Given the description of an element on the screen output the (x, y) to click on. 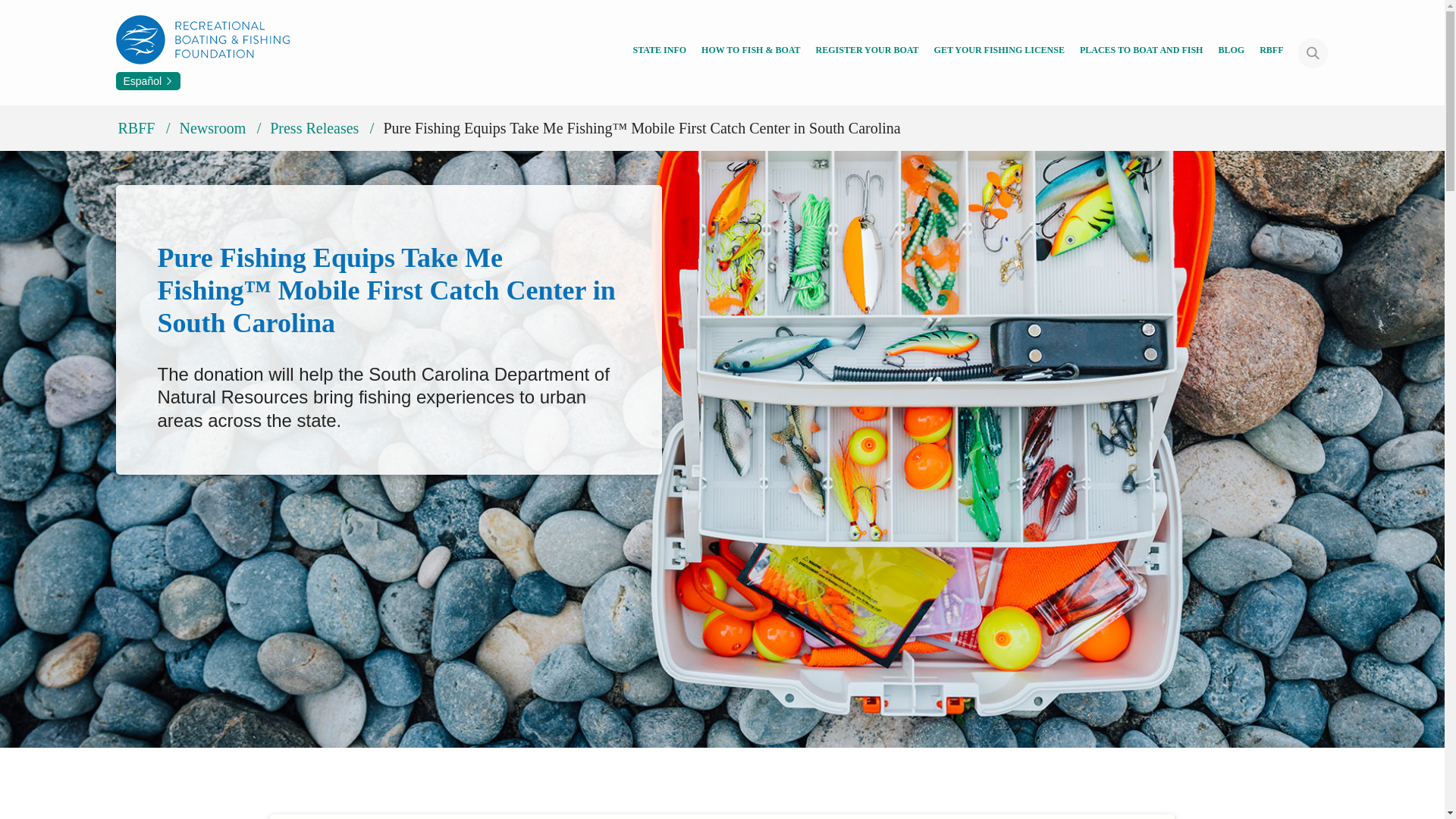
GET YOUR FISHING LICENSE (999, 51)
BLOG (1230, 51)
RBFF (1270, 51)
Get Your Fishing License (999, 51)
PLACES TO BOAT AND FISH (1142, 51)
REGISTER YOUR BOAT (866, 51)
Blog (1230, 51)
Places To Boat And Fish (1142, 51)
RBFF (1270, 51)
Register Your Boat (866, 51)
